Given the description of an element on the screen output the (x, y) to click on. 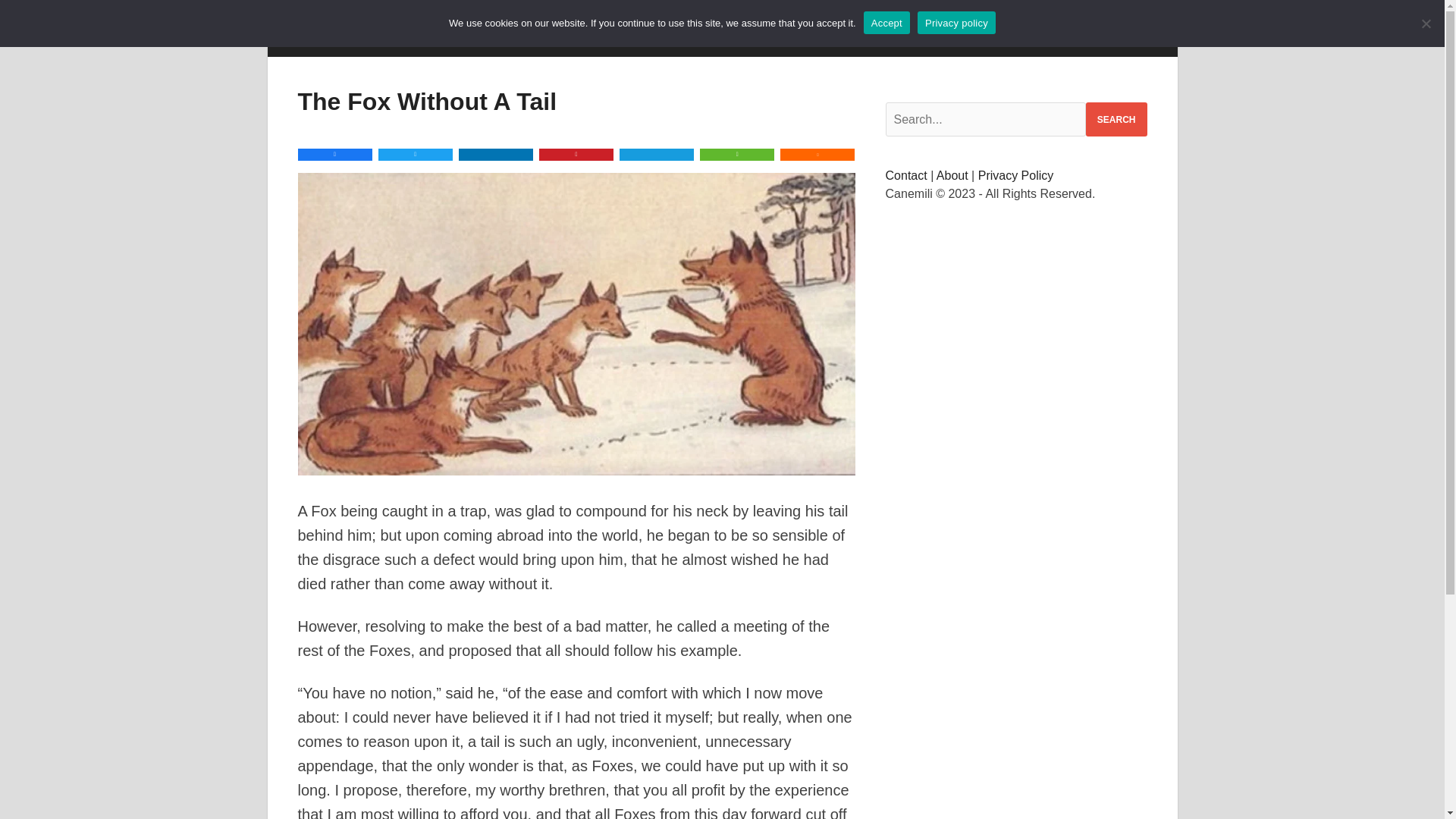
Share this on Facebook (334, 154)
Privacy Policy (1016, 174)
More share links (817, 154)
QUOTES (798, 39)
CANEMILI (343, 39)
FABLE FOR KIDS (696, 39)
Tweet this ! (415, 154)
Submit this to Pinterest (575, 154)
RANDOM POST (896, 39)
CLEAN JOKE (445, 39)
